Given the description of an element on the screen output the (x, y) to click on. 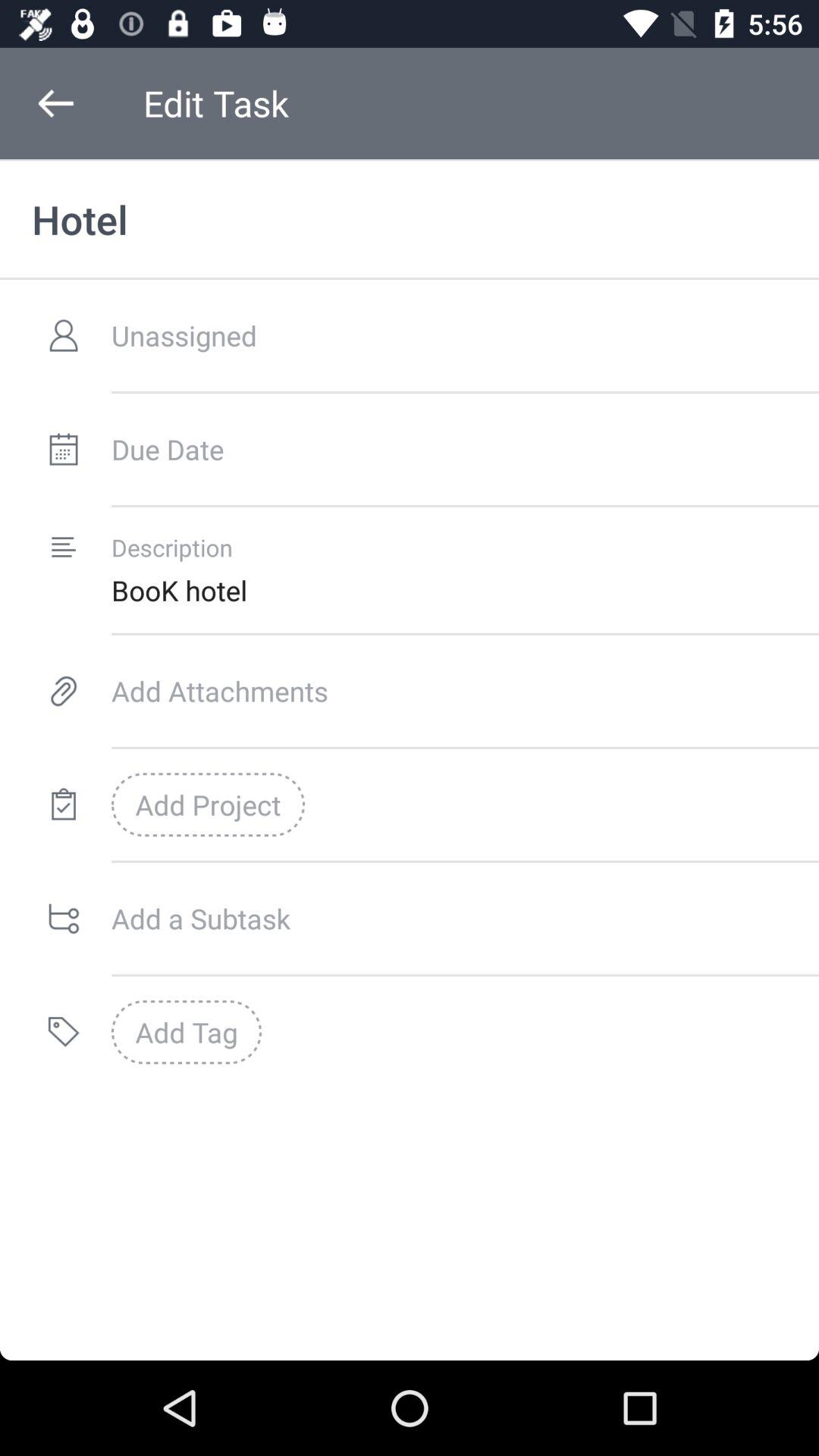
open the icon above add project (465, 690)
